Given the description of an element on the screen output the (x, y) to click on. 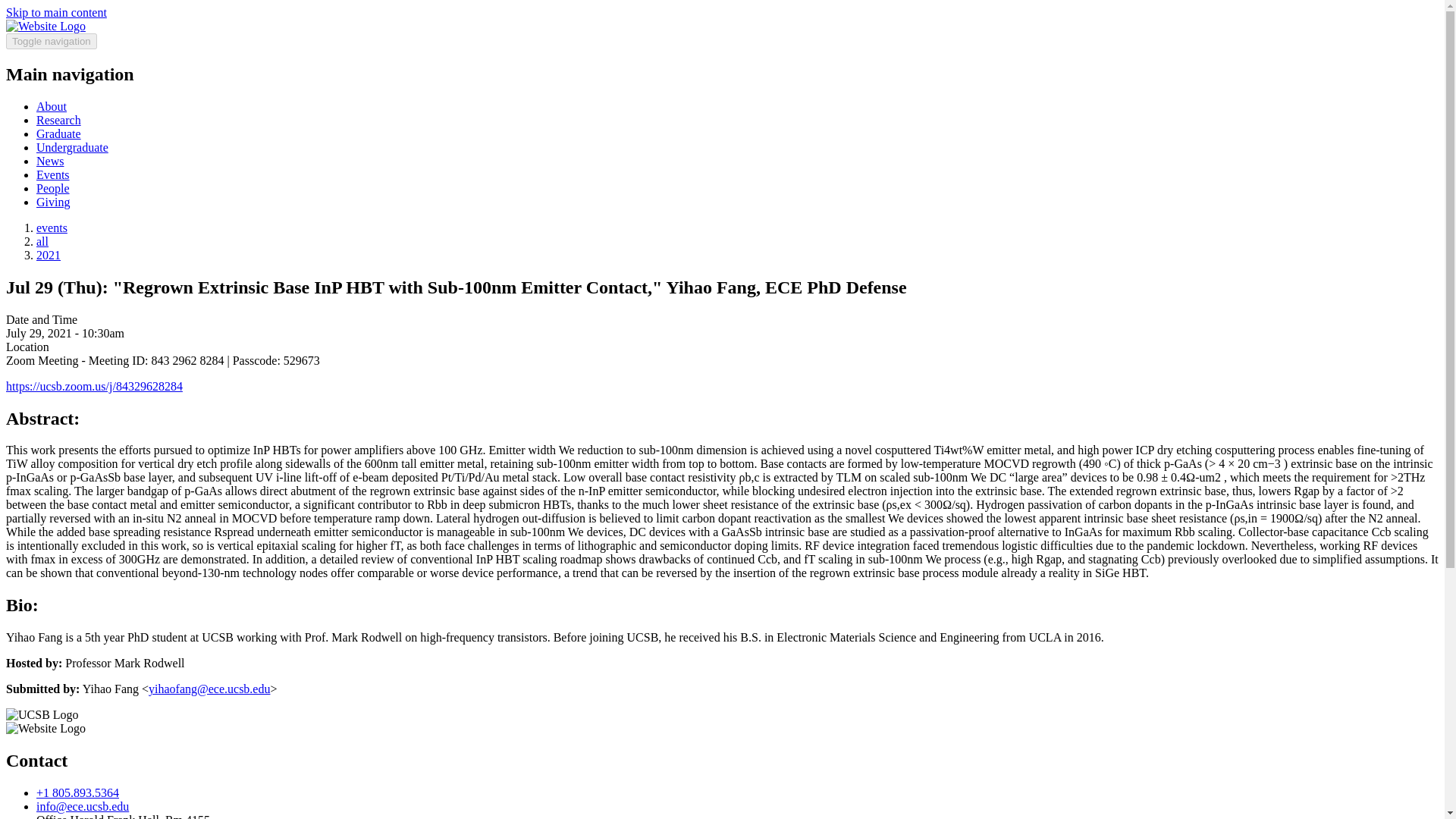
Events (52, 174)
minor change 'senior capstone project' (71, 146)
Toggle navigation (51, 41)
Undergraduate (71, 146)
Skip to main content (55, 11)
News (50, 160)
all (42, 241)
Graduate (58, 133)
Giving (52, 201)
2021 (48, 254)
People (52, 187)
About (51, 106)
events (51, 227)
Research (58, 119)
